Given the description of an element on the screen output the (x, y) to click on. 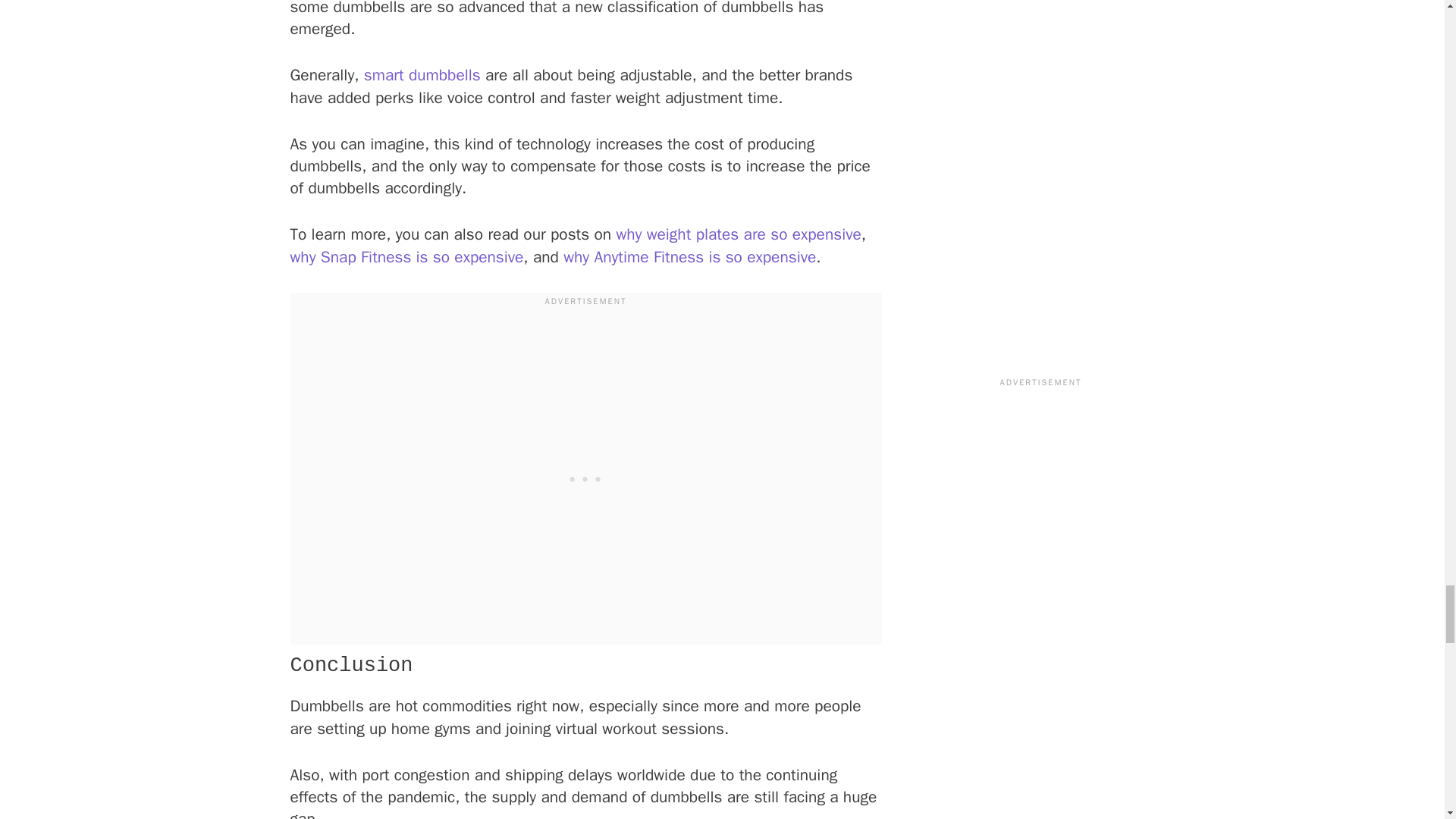
why weight plates are so expensive (737, 234)
smart dumbbells (422, 75)
why Snap Fitness is so expensive (405, 256)
why Anytime Fitness is so expensive (689, 256)
